Given the description of an element on the screen output the (x, y) to click on. 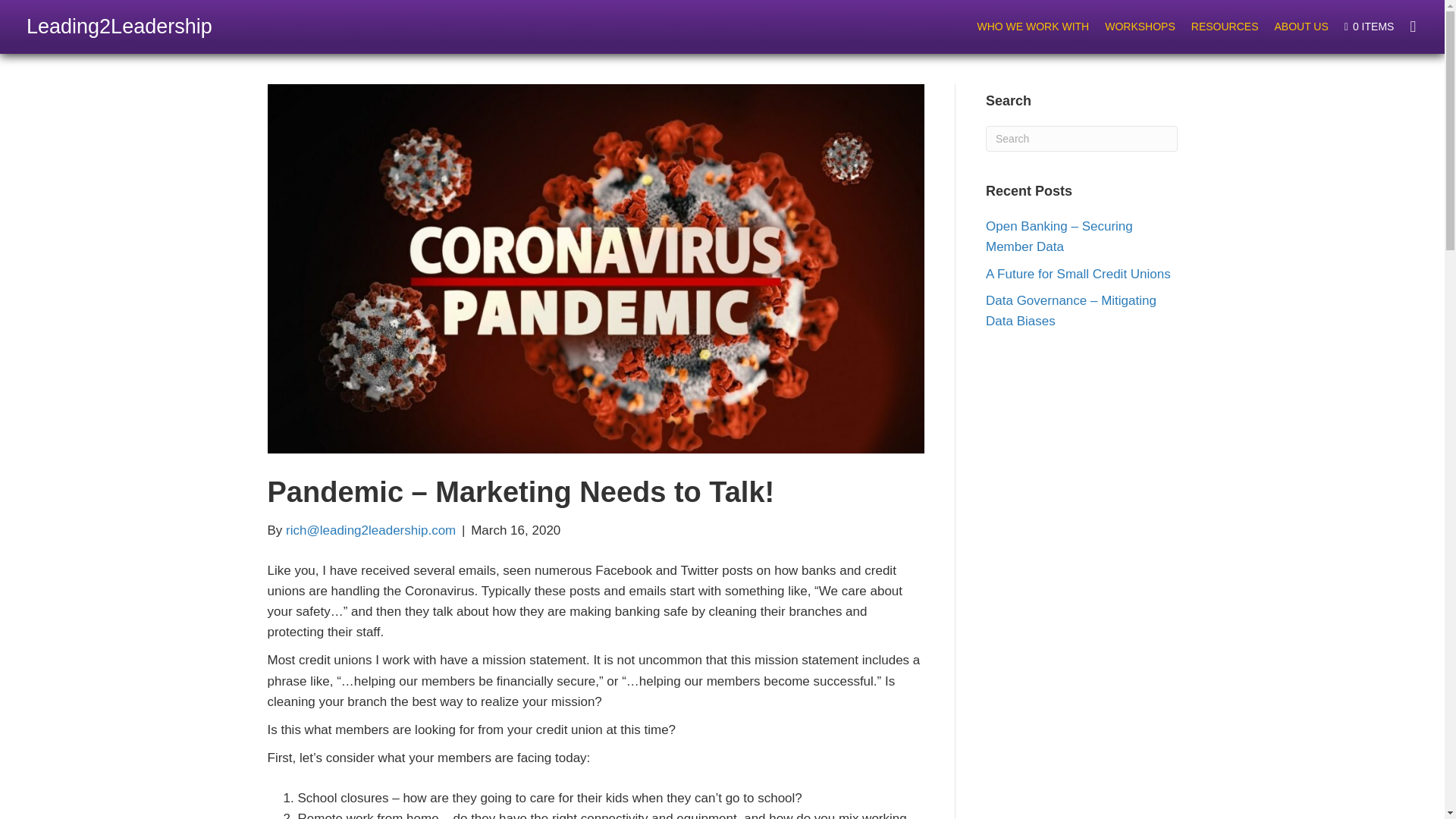
Type and press Enter to search. (1081, 138)
Start shopping (1369, 26)
Leading2Leadership (119, 26)
Leading2Leadership (119, 26)
WHO WE WORK WITH (1032, 26)
WORKSHOPS (1139, 26)
RESOURCES (1224, 26)
0 ITEMS (1369, 26)
ABOUT US (1300, 26)
